Given the description of an element on the screen output the (x, y) to click on. 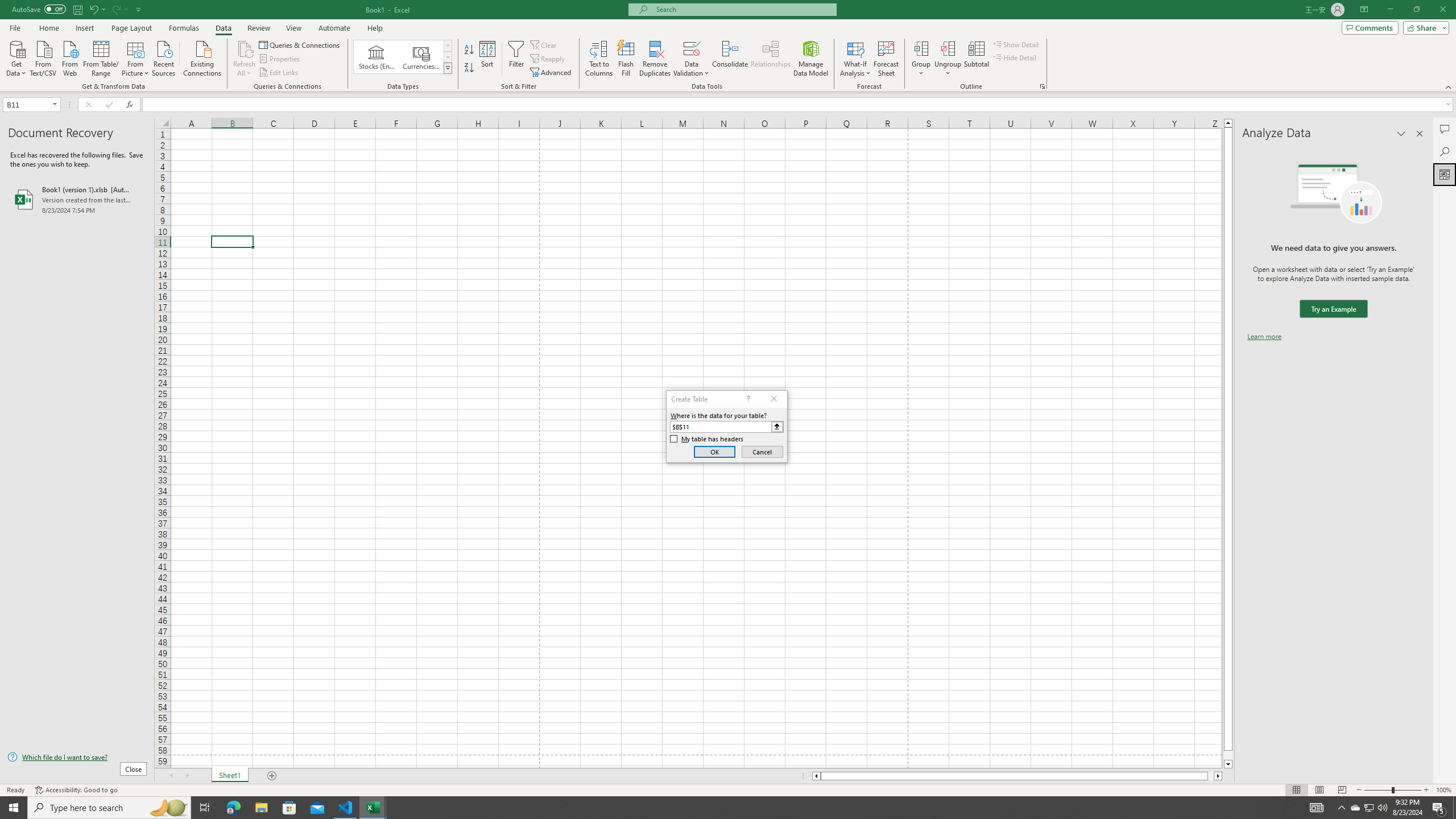
Queries & Connections (300, 44)
AutomationID: ConvertToLinkedEntity (403, 56)
Learn more (1264, 336)
Sort Z to A (469, 67)
Data Types (448, 67)
Reapply (548, 58)
Group and Outline Settings (1042, 85)
